Given the description of an element on the screen output the (x, y) to click on. 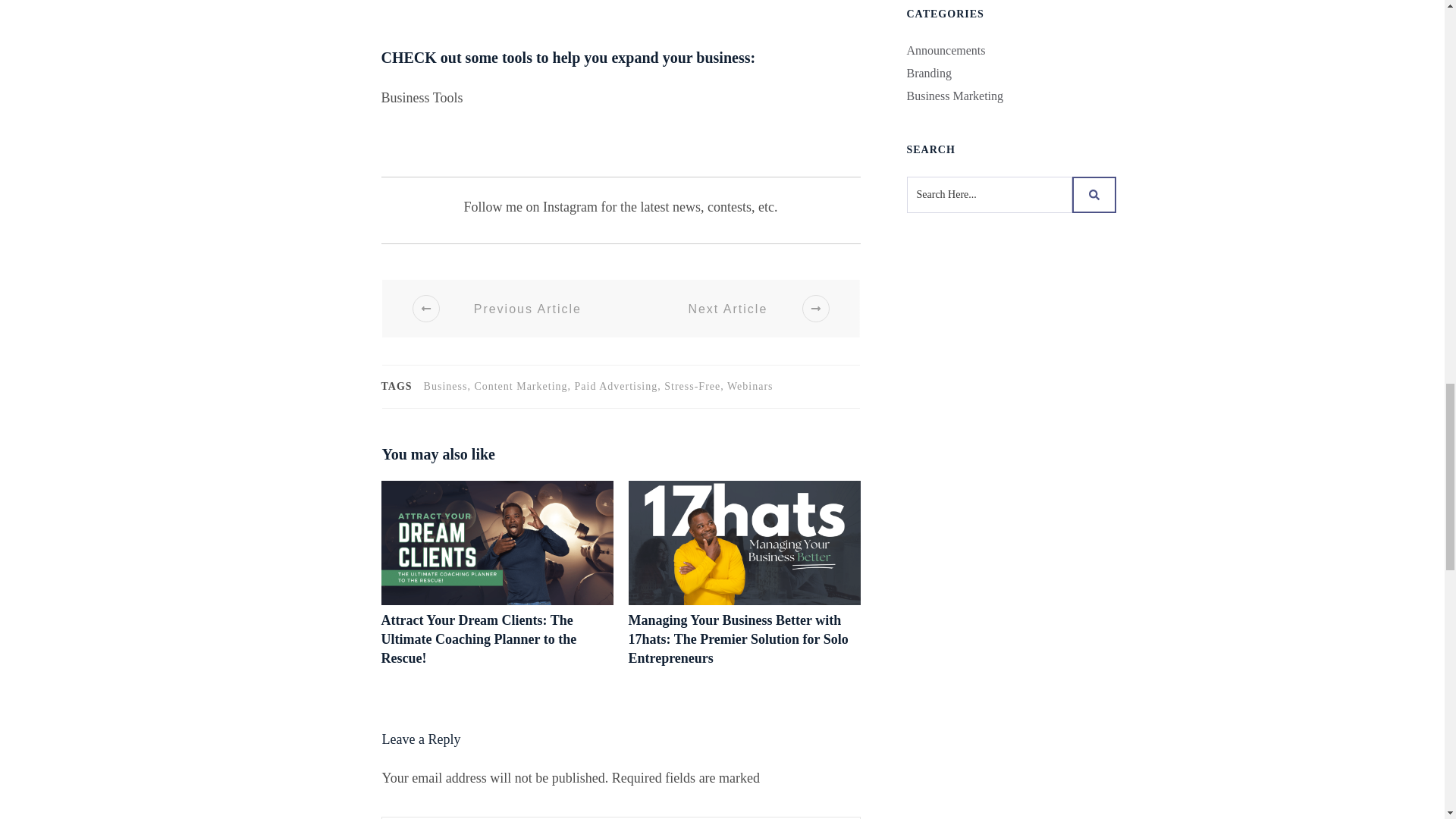
Previous Article (507, 308)
Next Article (746, 308)
Business Tools (421, 97)
Instagram (569, 206)
